Given the description of an element on the screen output the (x, y) to click on. 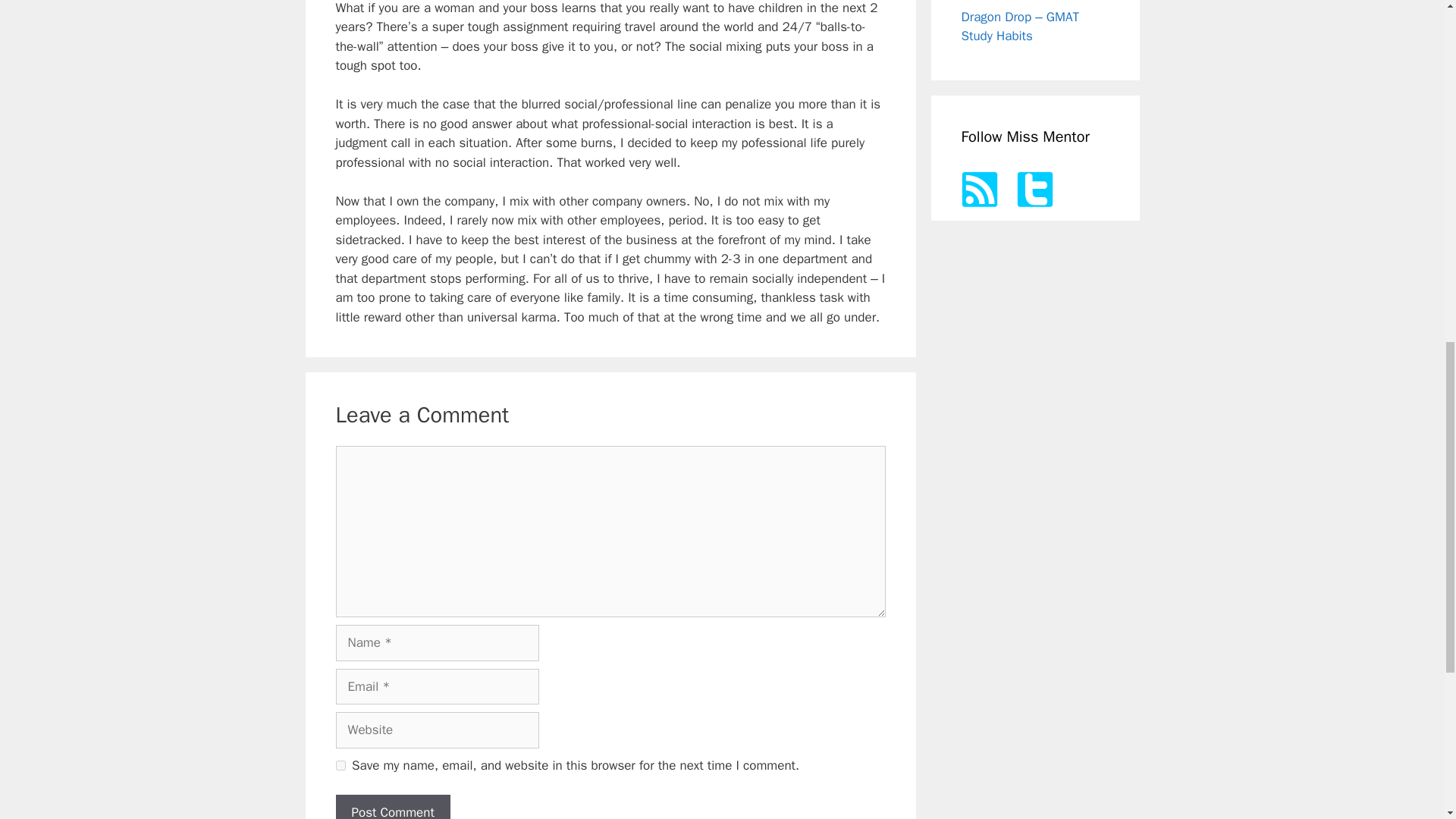
rss (978, 189)
yes (339, 765)
Post Comment (391, 806)
Post Comment (391, 806)
twitter (1034, 189)
